Given the description of an element on the screen output the (x, y) to click on. 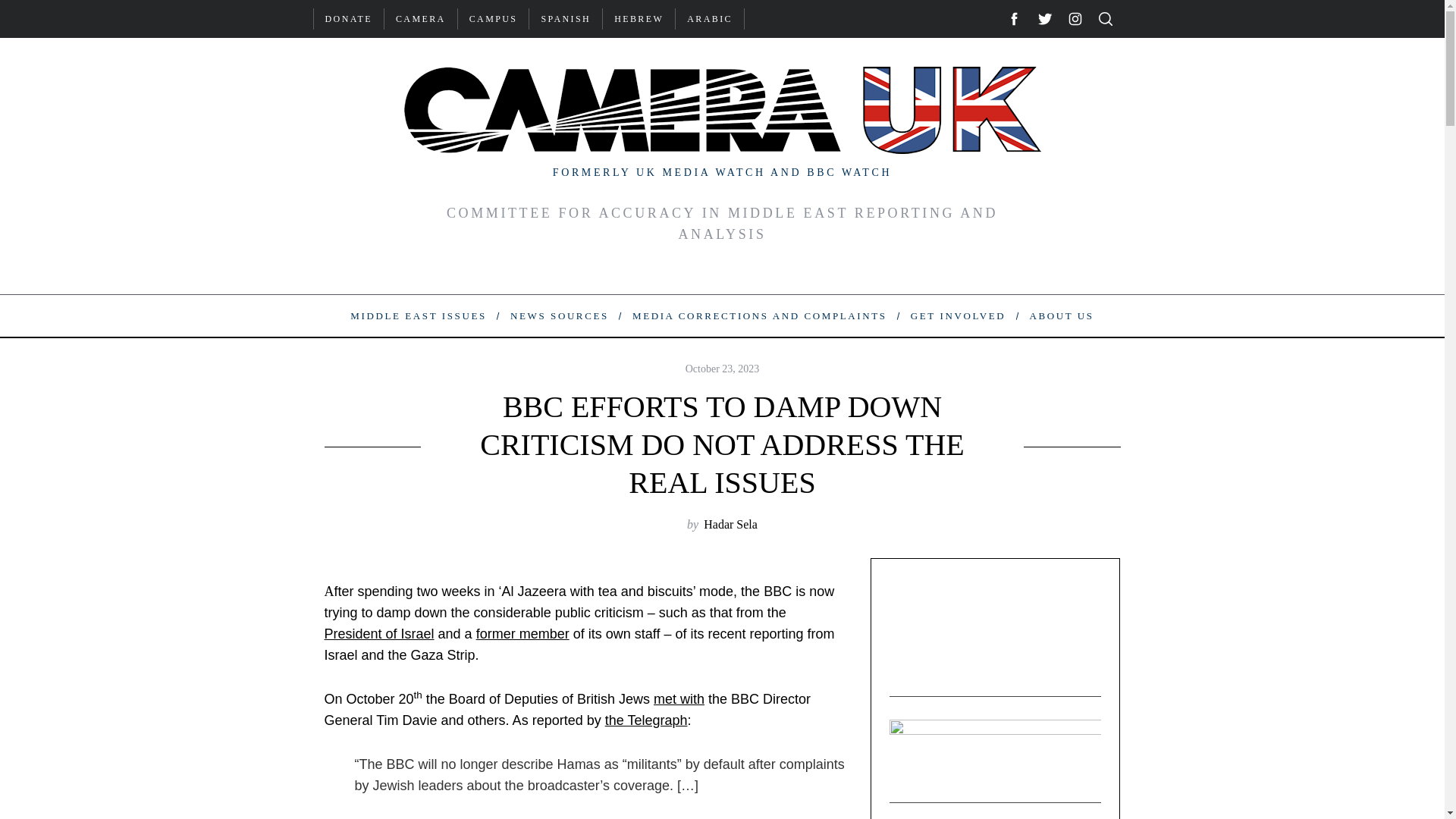
the Telegraph (646, 720)
DONATE (349, 18)
NEWS SOURCES (558, 315)
MEDIA CORRECTIONS AND COMPLAINTS (759, 315)
SPANISH (565, 18)
met with (678, 698)
CAMPUS (493, 18)
former member (522, 633)
Hadar Sela (730, 523)
CAMERA (420, 18)
